Given the description of an element on the screen output the (x, y) to click on. 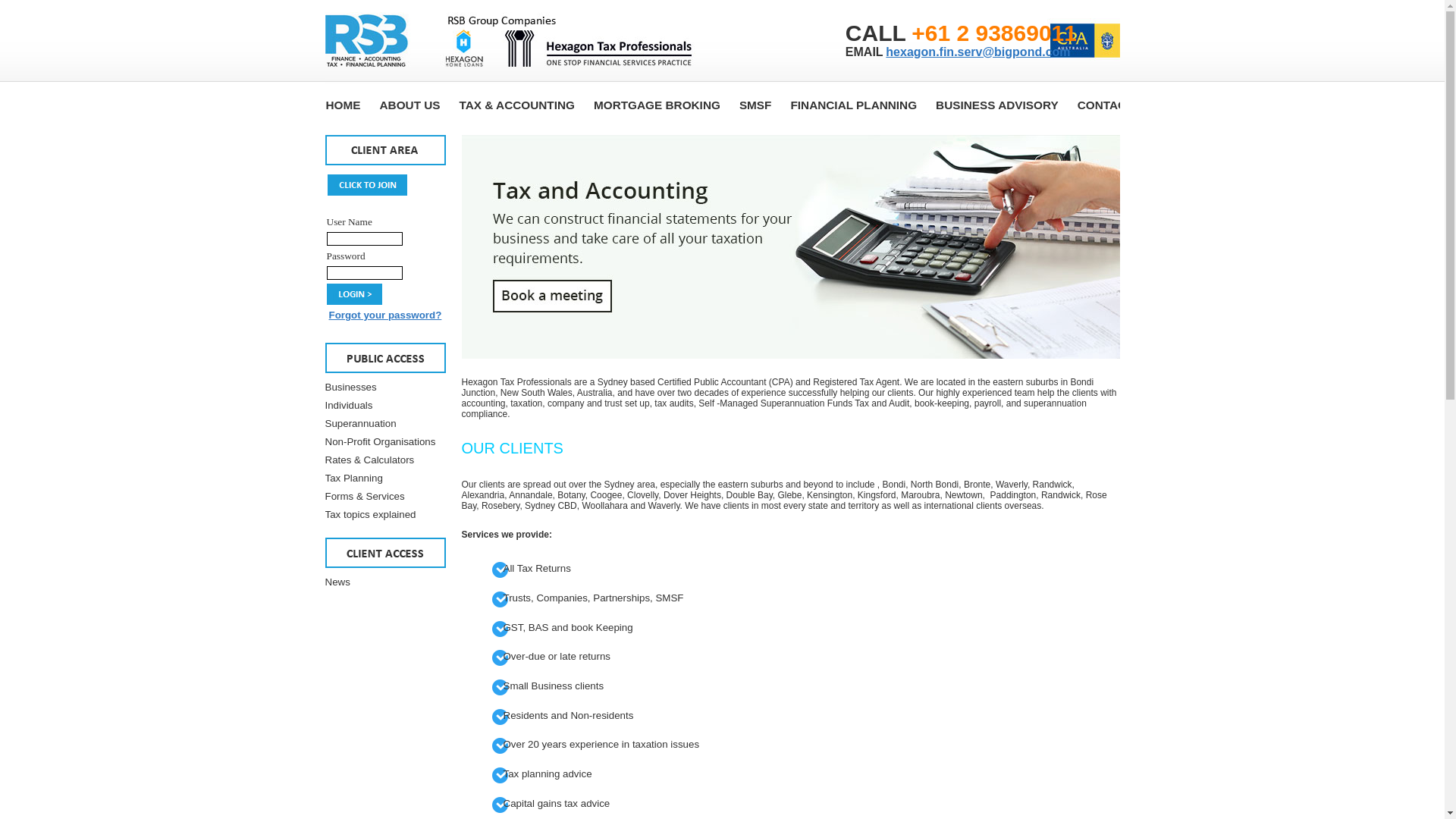
hexagon.fin.serv@bigpond.com Element type: text (977, 51)
Non-Profit Organisations Element type: text (379, 441)
Businesses Element type: text (350, 386)
Tax Planning Element type: text (353, 477)
News Element type: text (336, 581)
CONTACT US Element type: text (1114, 104)
Individuals Element type: text (348, 405)
HOME Element type: text (343, 104)
FINANCIAL PLANNING Element type: text (853, 104)
MORTGAGE BROKING Element type: text (656, 104)
Rates & Calculators Element type: text (369, 459)
ABOUT US Element type: text (409, 104)
Forms & Services Element type: text (364, 496)
TAX & ACCOUNTING Element type: text (516, 104)
Superannuation Element type: text (359, 423)
BUSINESS ADVISORY Element type: text (996, 104)
Forgot your password? Element type: text (385, 314)
SMSF Element type: text (755, 104)
Click here Element type: hover (790, 355)
Tax topics explained Element type: text (369, 514)
